Given the description of an element on the screen output the (x, y) to click on. 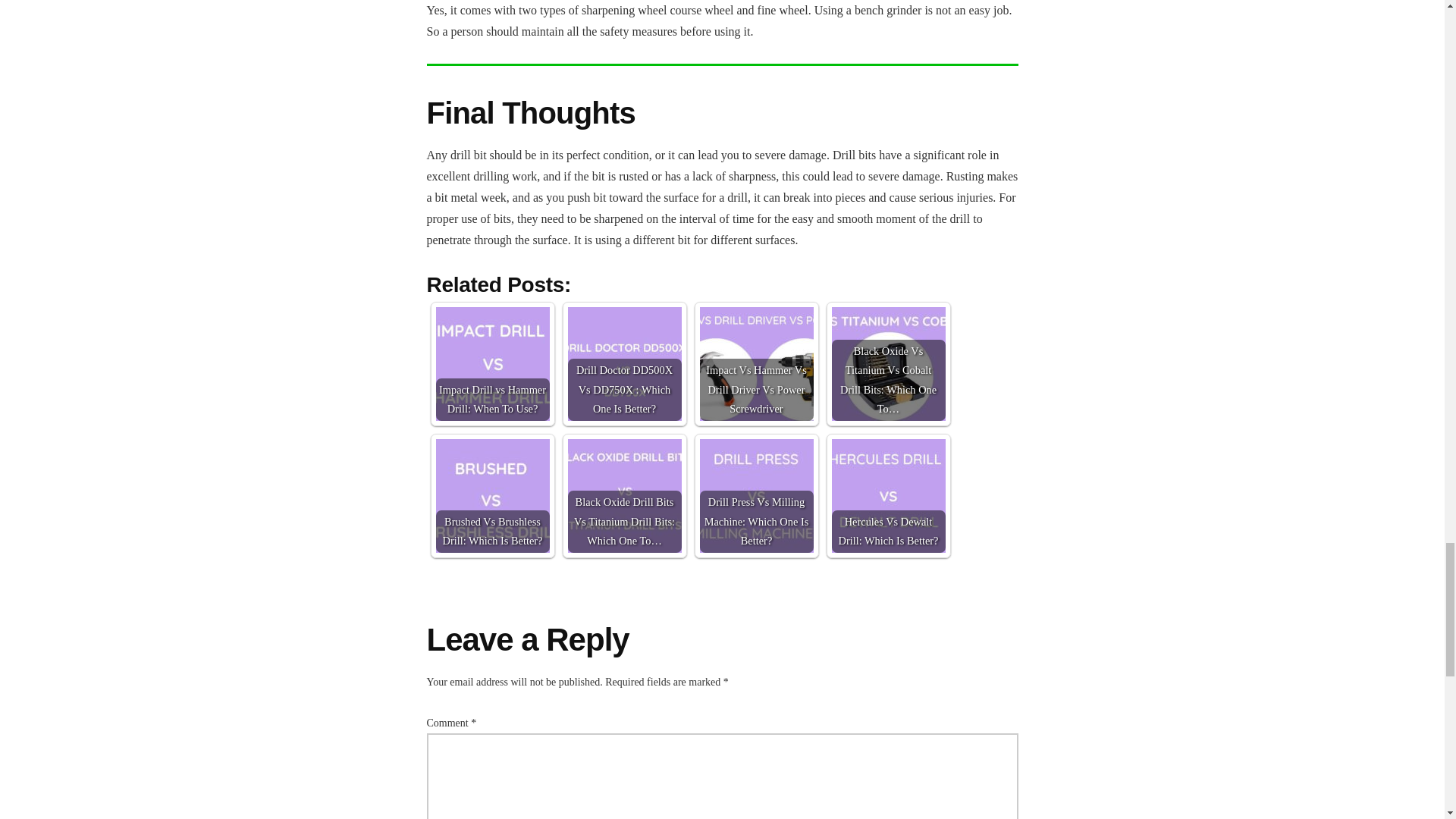
Brushed Vs Brushless Drill: Which Is Better? (491, 495)
Drill Doctor DD500X Vs DD750X : Which One Is Better? (624, 363)
Drill Press Vs Milling Machine: Which One Is Better? (755, 495)
Hercules Vs Dewalt Drill: Which Is Better? (887, 495)
Impact Vs Hammer Vs Drill Driver Vs Power Screwdriver (755, 363)
Impact Vs Hammer Vs Drill Driver Vs Power Screwdriver (755, 363)
Impact Drill vs Hammer Drill: When To Use? (491, 363)
Drill Doctor DD500X Vs DD750X : Which One Is Better? (624, 363)
Hercules Vs Dewalt Drill: Which Is Better? (887, 495)
Impact Drill vs Hammer Drill: When To Use? (491, 363)
Drill Press Vs Milling Machine: Which One Is Better? (755, 495)
Brushed Vs Brushless Drill: Which Is Better? (491, 495)
